Given the description of an element on the screen output the (x, y) to click on. 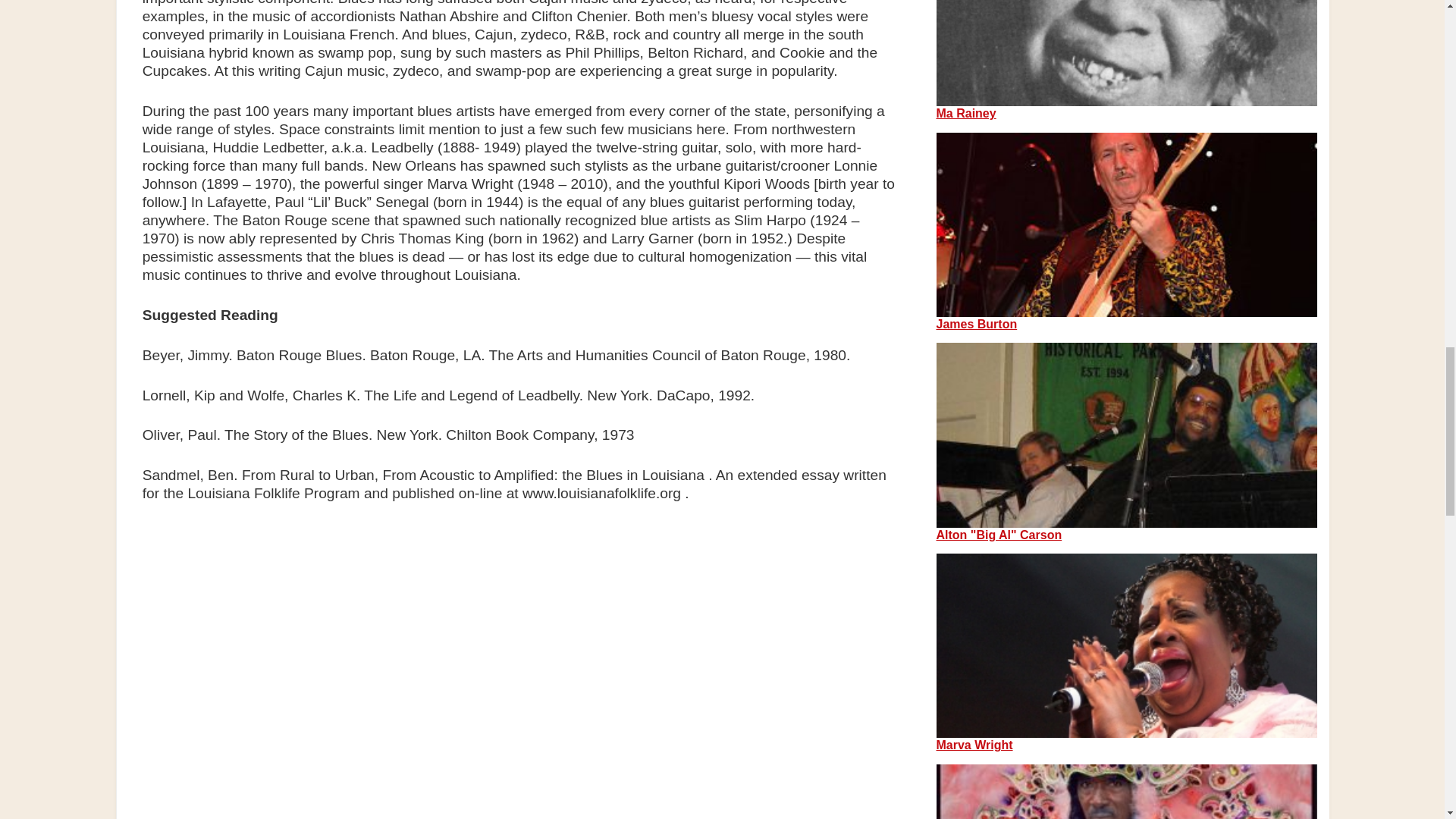
Marva Wright (973, 744)
Ma Rainey (965, 113)
James Burton (976, 323)
Alton "Big Al" Carson (998, 534)
